Given the description of an element on the screen output the (x, y) to click on. 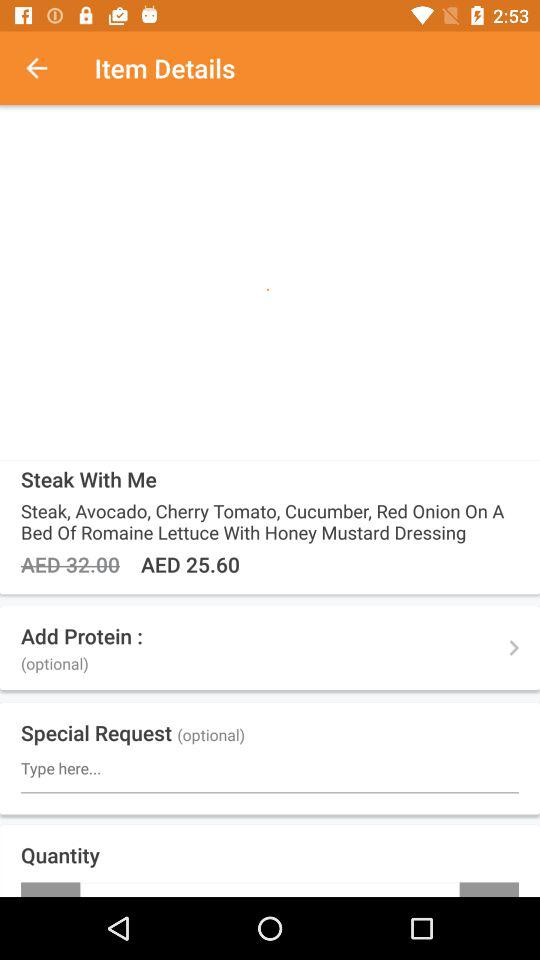
select the item at the top left corner (47, 68)
